Given the description of an element on the screen output the (x, y) to click on. 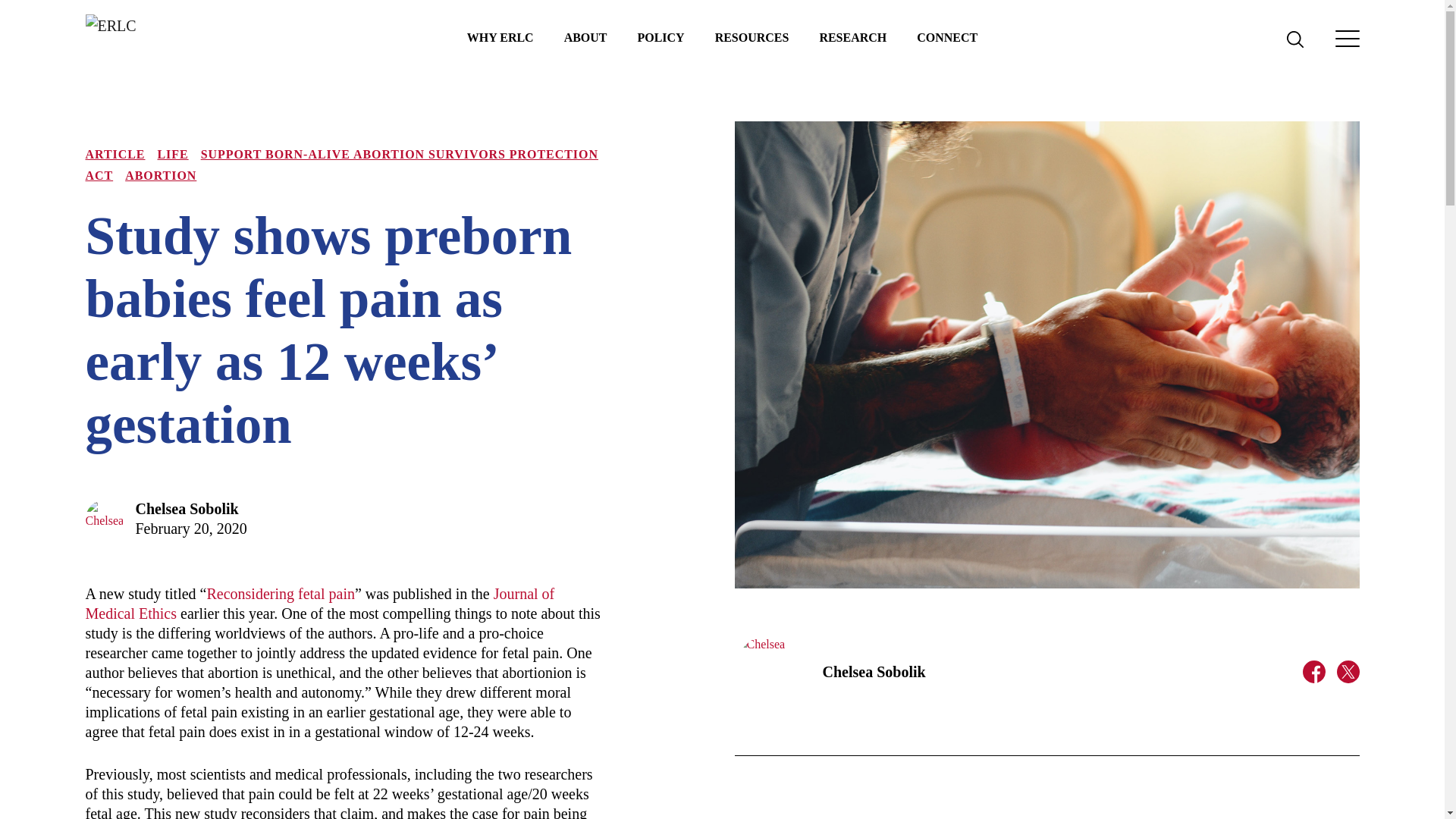
CONNECT (946, 38)
POLICY (660, 38)
Home (199, 37)
Why ERLC (500, 38)
ABORTION (160, 174)
About (585, 38)
Policy (660, 38)
Resources (751, 38)
Chelsea Sobolik (873, 671)
Reconsidering fetal pain (280, 593)
